Given the description of an element on the screen output the (x, y) to click on. 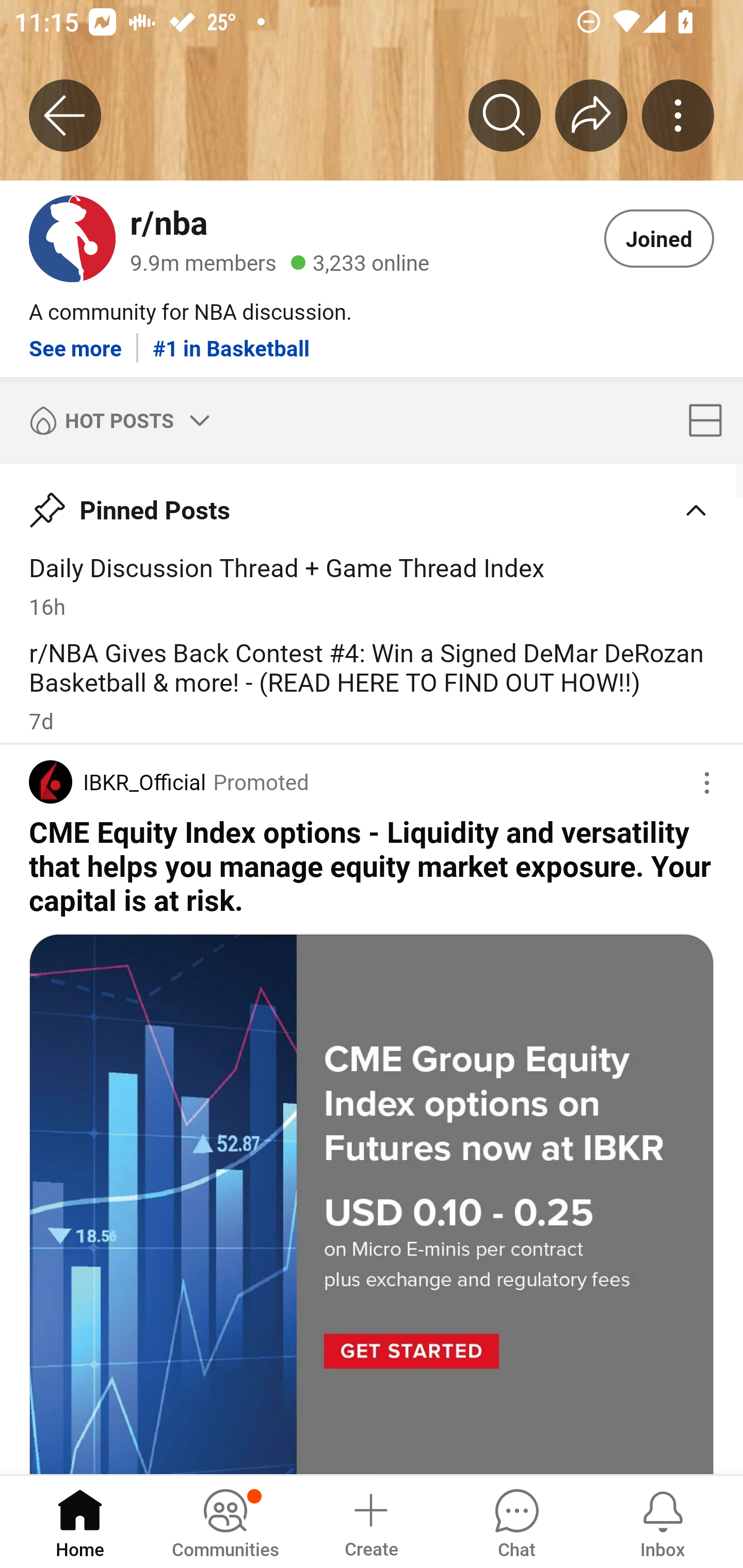
Back (64, 115)
Search r/﻿nba (504, 115)
Share r/﻿nba (591, 115)
More community actions (677, 115)
See more (74, 340)
#1 in Basketball (231, 340)
HOT POSTS Sort by Hot posts (115, 420)
Card display (711, 420)
Pin Pinned Posts Caret (371, 503)
Daily Discussion Thread + Game Thread Index 16h (371, 585)
Author IBKR_Official (116, 781)
Image (371, 1202)
Home (80, 1520)
Communities, has notifications Communities (225, 1520)
Create a post Create (370, 1520)
Chat (516, 1520)
Inbox (662, 1520)
